Given the description of an element on the screen output the (x, y) to click on. 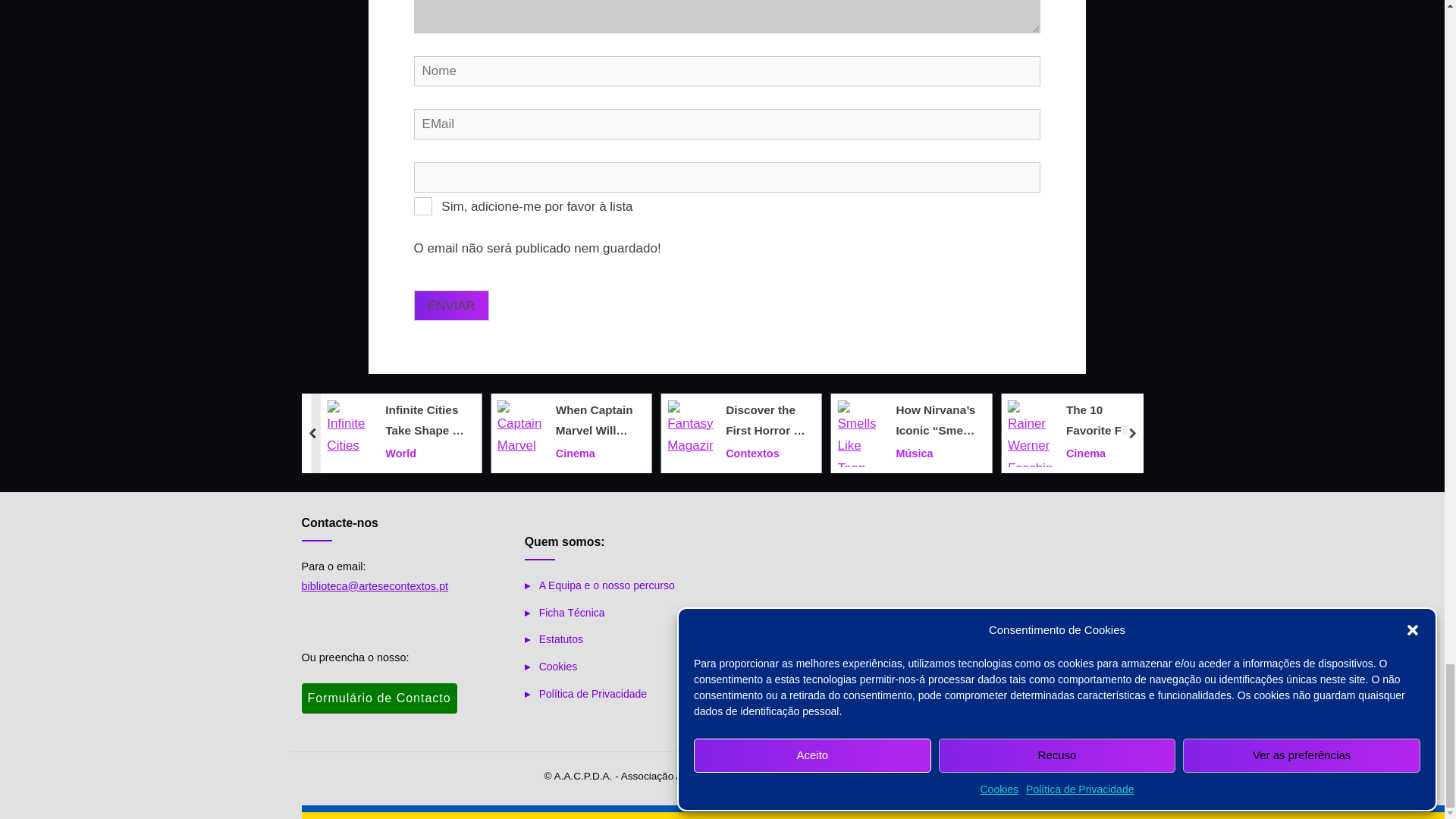
Enviar (451, 305)
1 (422, 206)
